Given the description of an element on the screen output the (x, y) to click on. 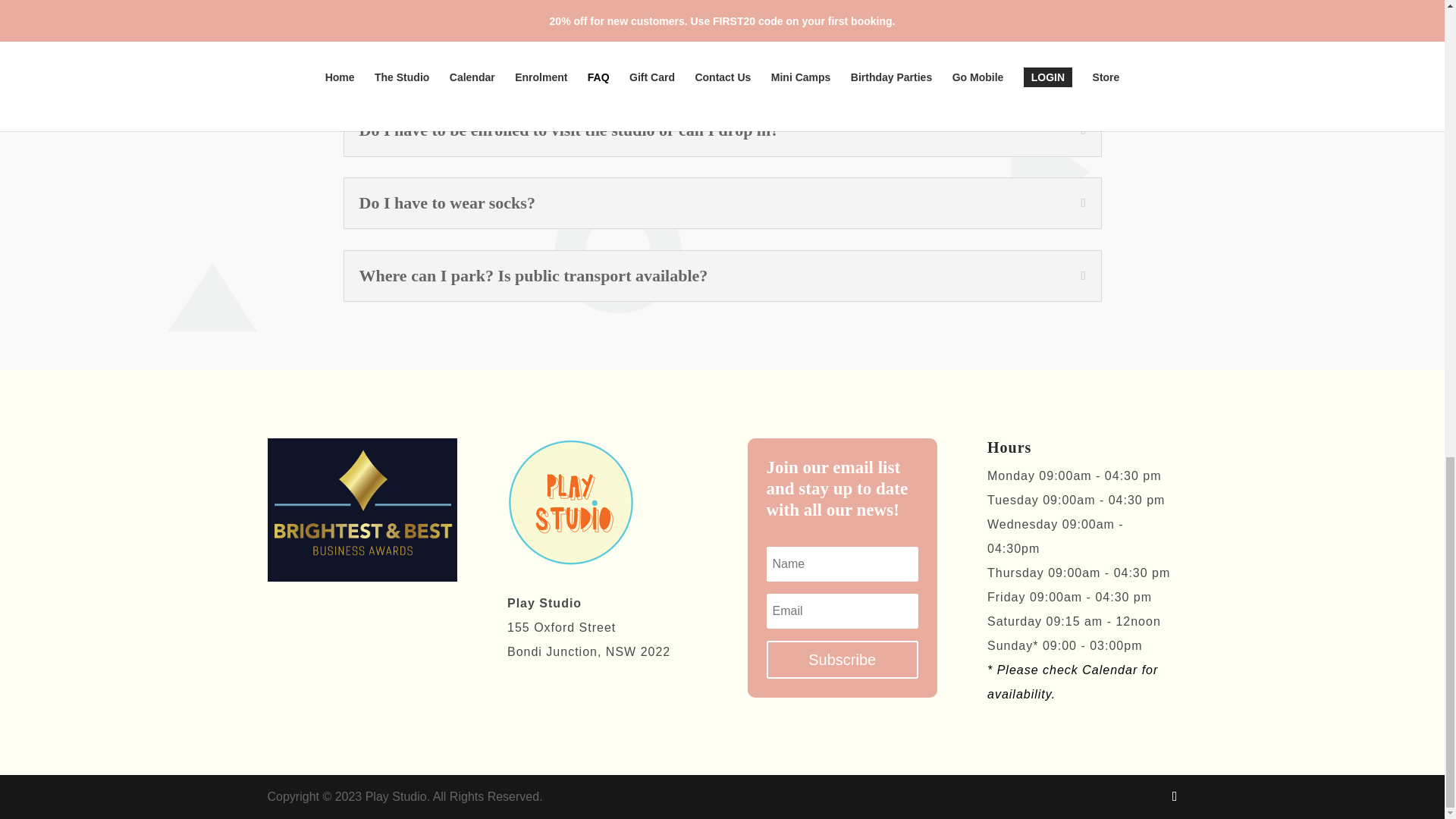
Subscribe (841, 659)
Brightest-and-Best-reward (361, 509)
PlayStudio-logo (570, 502)
